Given the description of an element on the screen output the (x, y) to click on. 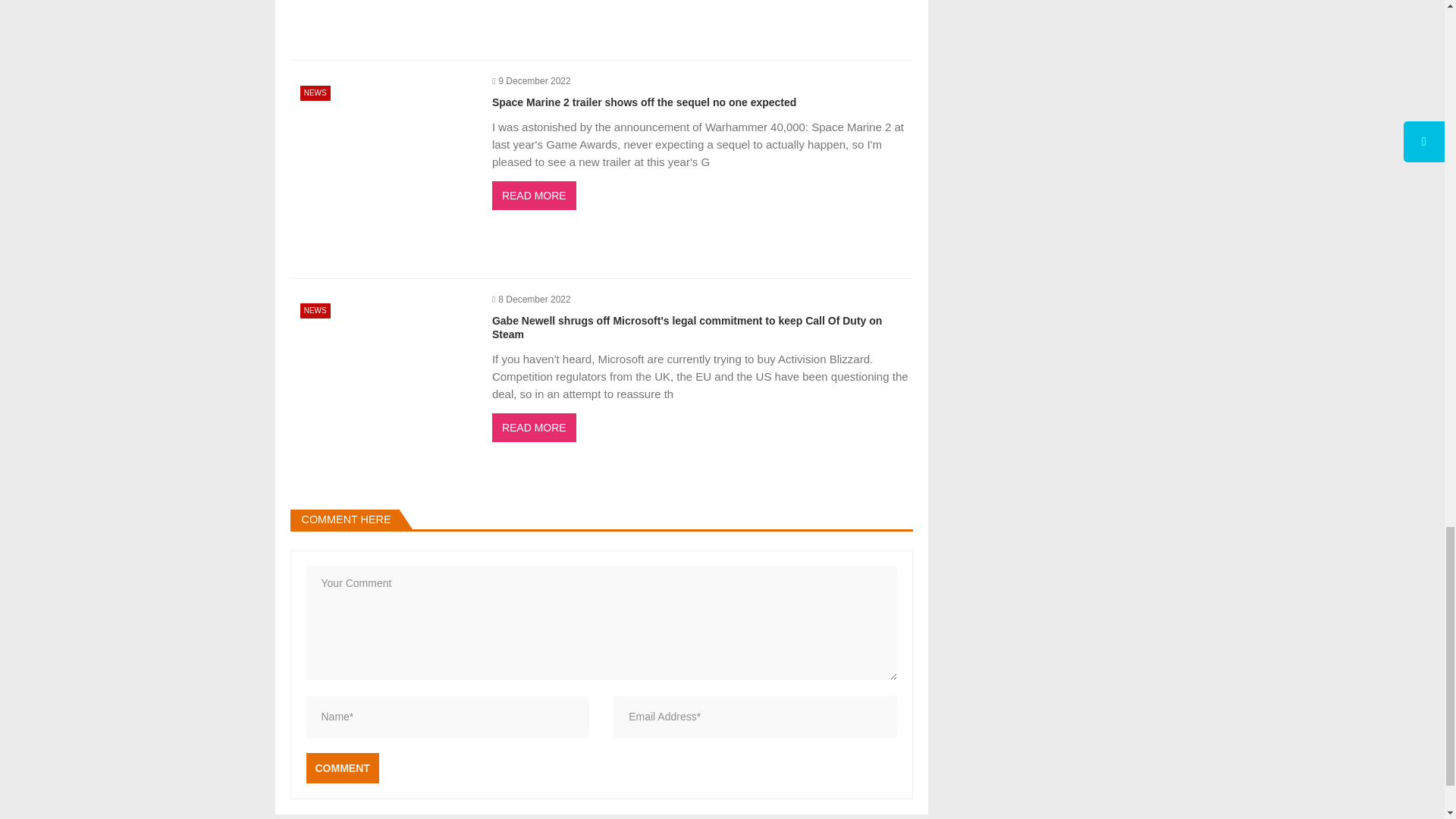
Comment (341, 767)
